Given the description of an element on the screen output the (x, y) to click on. 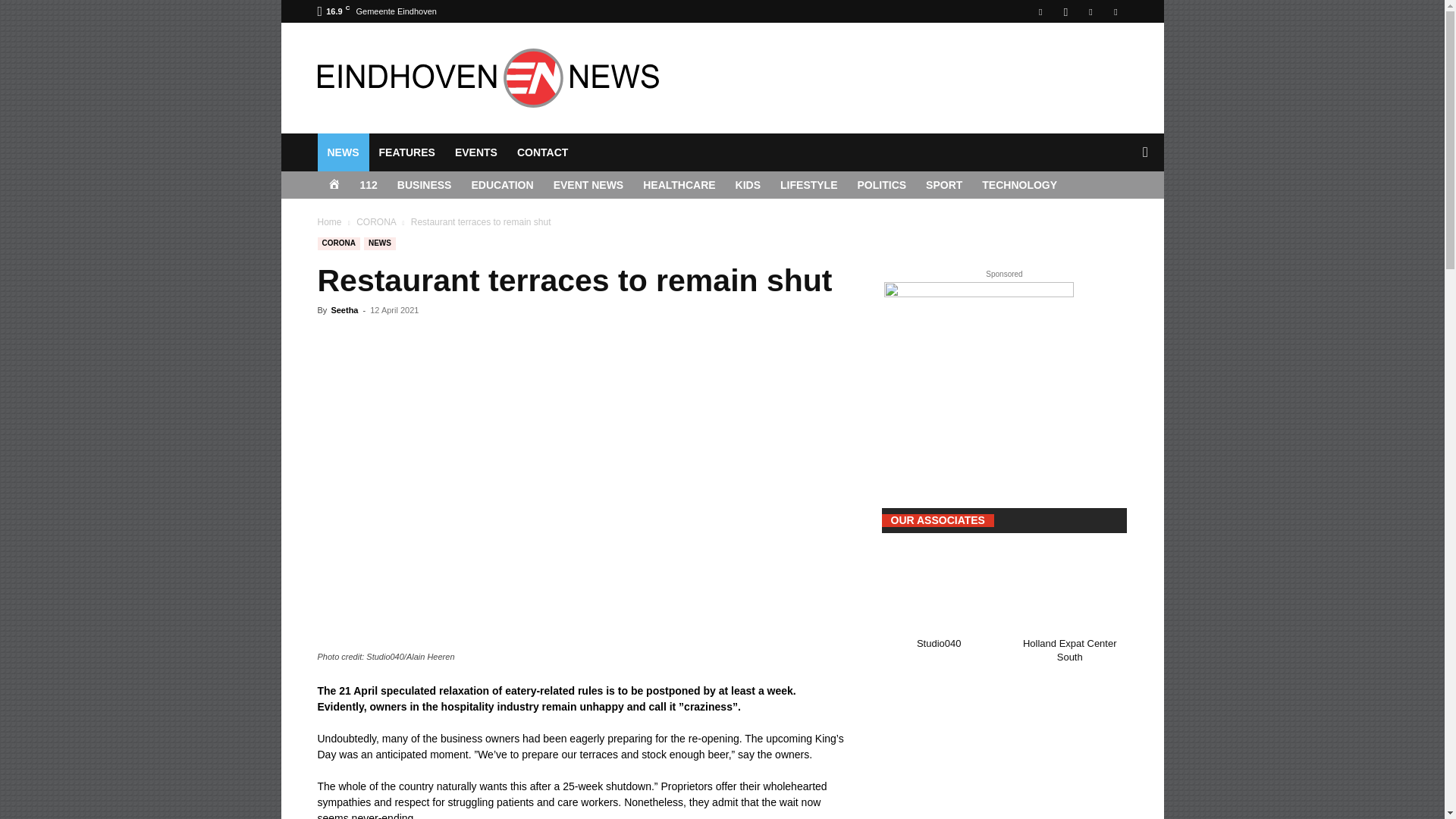
BUSINESS (424, 185)
EVENT NEWS (588, 185)
HEALTHCARE (679, 185)
View all posts in CORONA (376, 222)
NEWS (342, 152)
EVENTS (475, 152)
CONTACT (542, 152)
FEATURES (406, 152)
Facebook (1040, 11)
112 (368, 185)
EDUCATION (502, 185)
Linkedin (1090, 11)
Twitter (1114, 11)
Instagram (1065, 11)
